Given the description of an element on the screen output the (x, y) to click on. 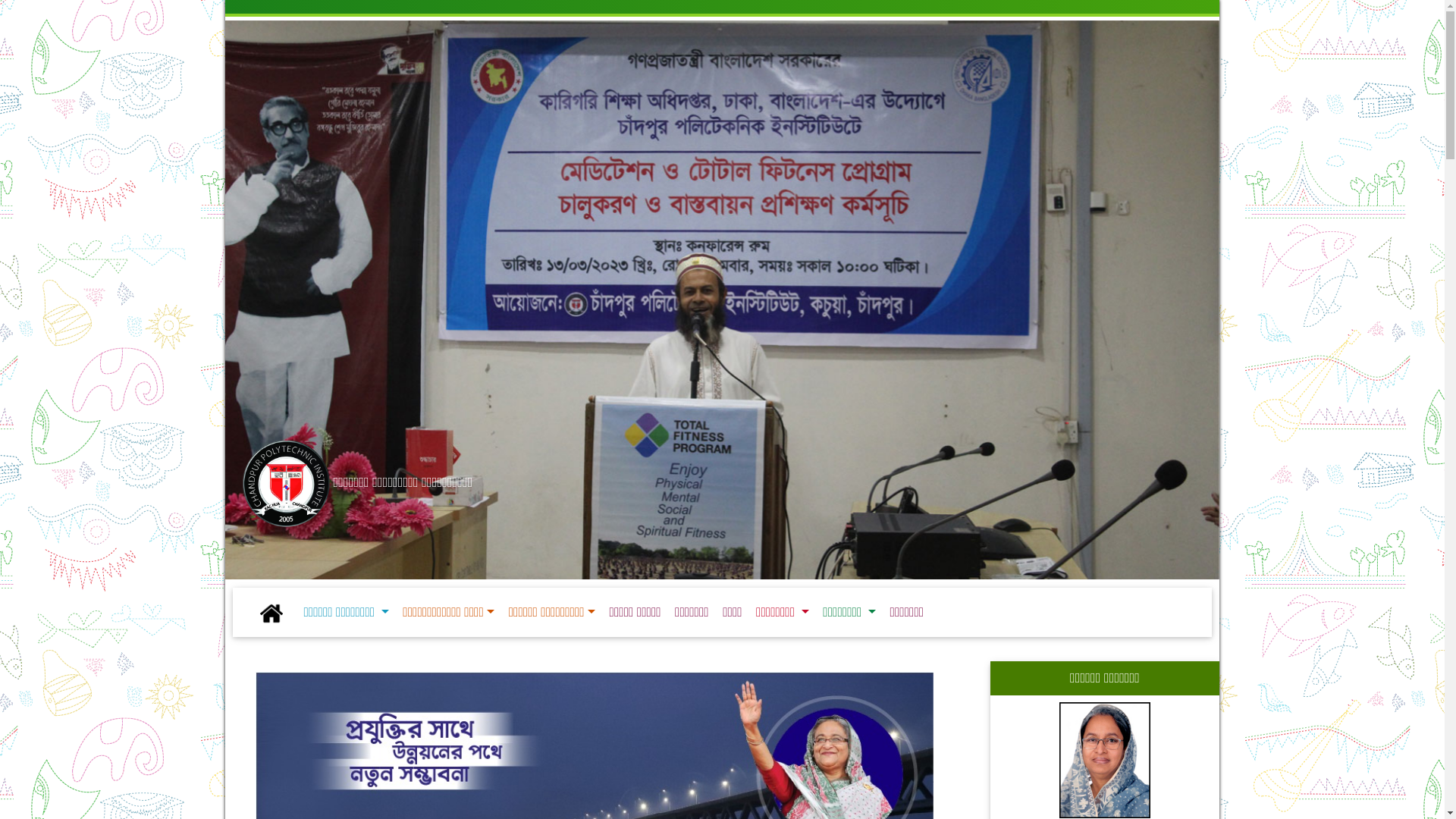
Next Element type: text (995, 260)
Previous Element type: text (260, 260)
